Given the description of an element on the screen output the (x, y) to click on. 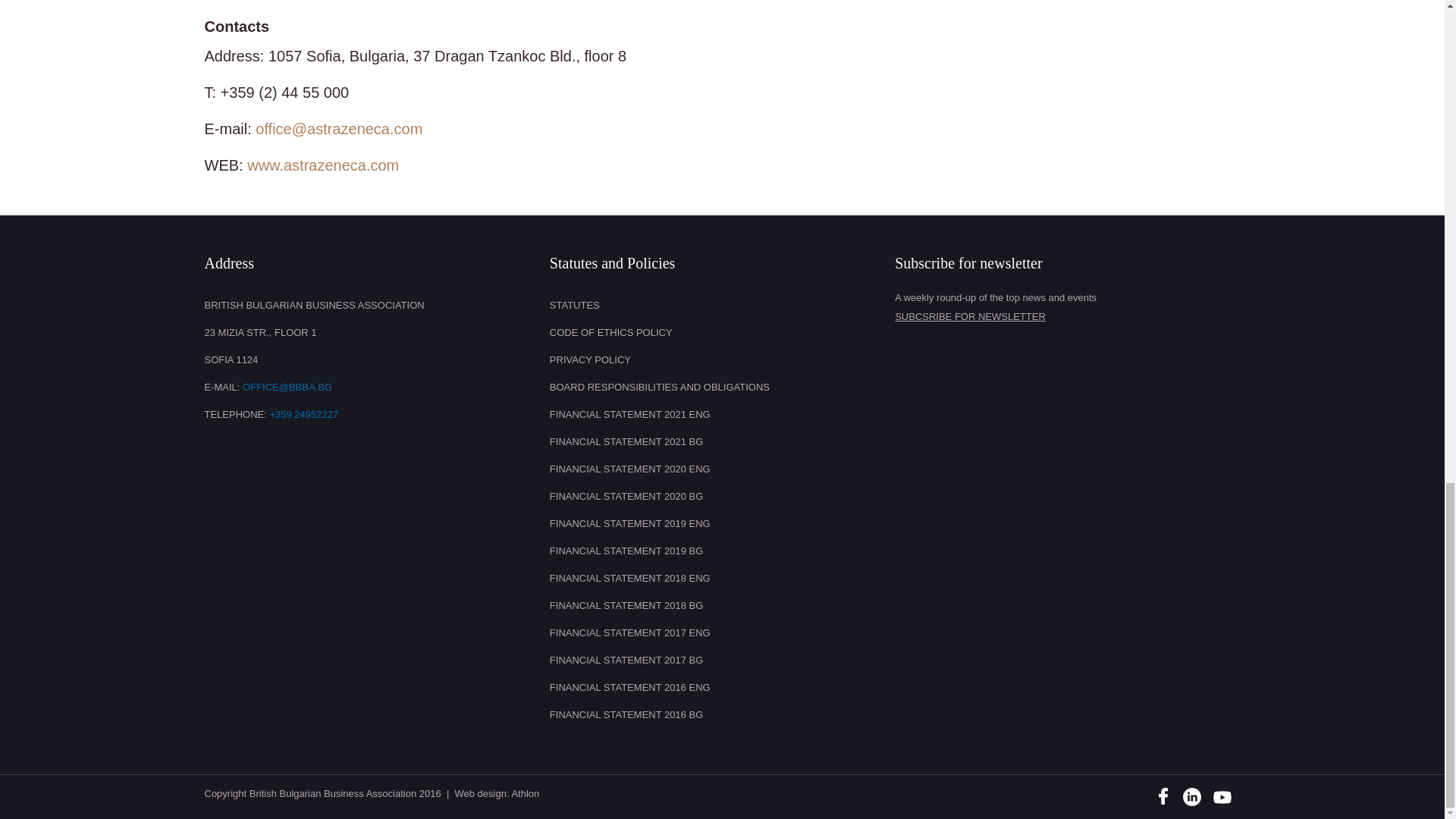
FINANCIAL STATEMENT 2017 BG (718, 660)
SUBCSRIBE FOR NEWSLETTER (1063, 316)
FINANCIAL STATEMENT 2018 ENG (718, 578)
FINANCIAL STATEMENT 2020 ENG (718, 469)
FINANCIAL STATEMENT 2016 ENG (718, 687)
STATUTES (718, 305)
FINANCIAL STATEMENT 2021 ENG (718, 414)
FINANCIAL STATEMENT 2017 ENG (718, 633)
FINANCIAL STATEMENT 2016 BG (718, 714)
PRIVACY POLICY (718, 359)
FINANCIAL STATEMENT 2021 BG (718, 441)
www.astrazeneca.com (322, 165)
CODE OF ETHICS POLICY (718, 332)
FINANCIAL STATEMENT 2019 BG (718, 551)
BOARD RESPONSIBILITIES AND OBLIGATIONS (718, 387)
